Given the description of an element on the screen output the (x, y) to click on. 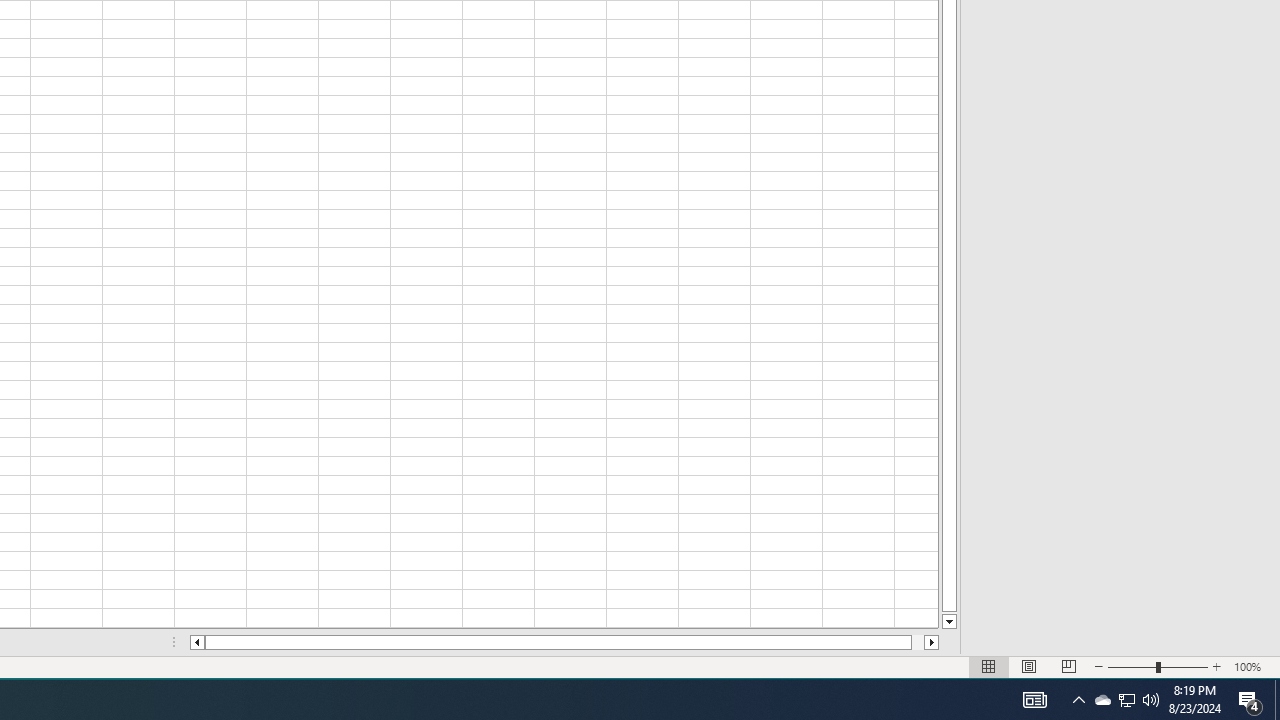
Class: NetUIScrollBar (564, 642)
Q2790: 100% (1151, 699)
Column left (196, 642)
User Promoted Notification Area (1126, 699)
Line down (948, 622)
Normal (988, 667)
Zoom In (1217, 667)
Zoom Out (1131, 667)
Page Layout (1126, 699)
Zoom (1102, 699)
Column right (1028, 667)
AutomationID: 4105 (1158, 667)
Page right (932, 642)
